Given the description of an element on the screen output the (x, y) to click on. 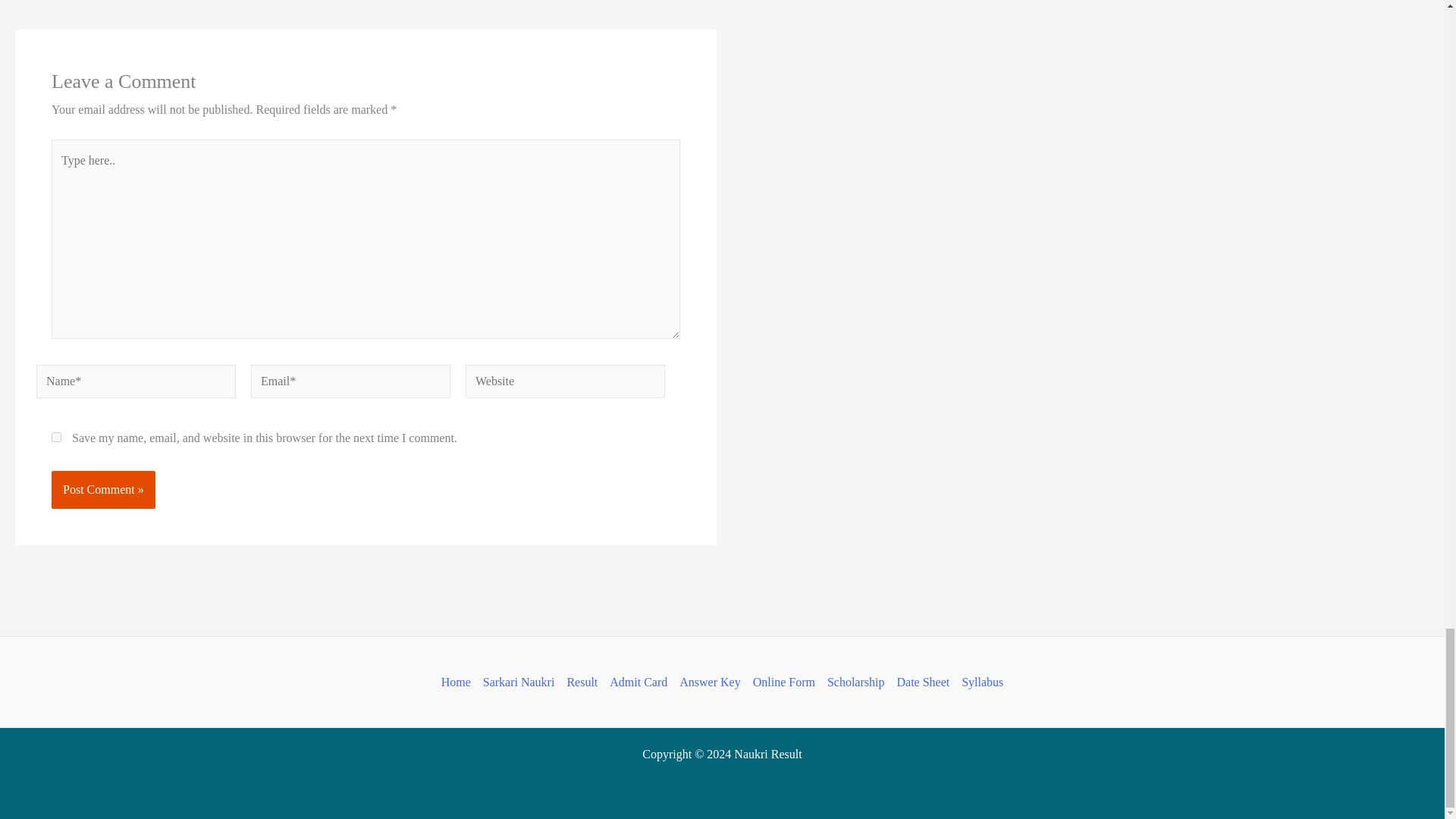
yes (55, 437)
